Given the description of an element on the screen output the (x, y) to click on. 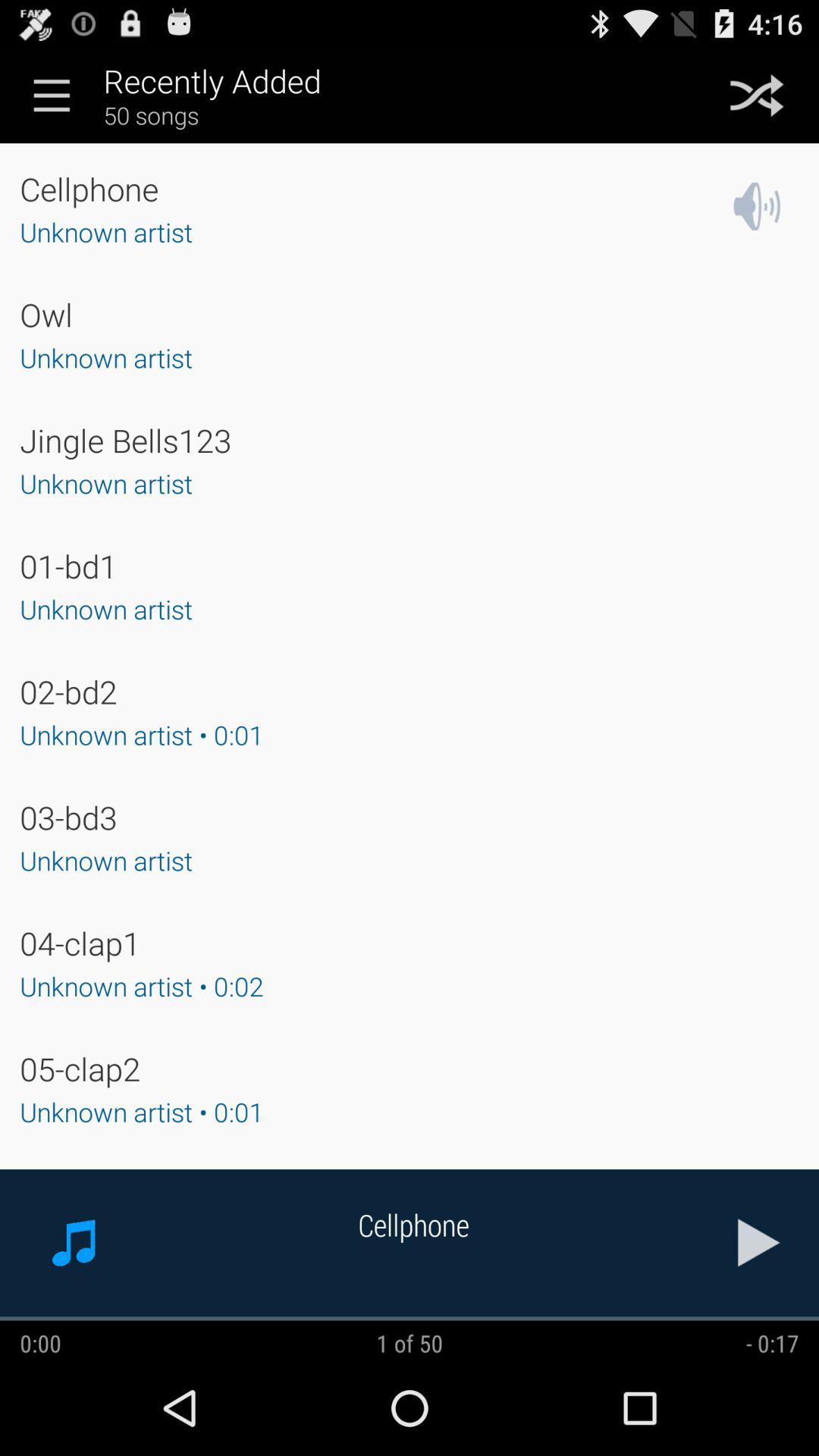
shuffle songs (756, 95)
